Given the description of an element on the screen output the (x, y) to click on. 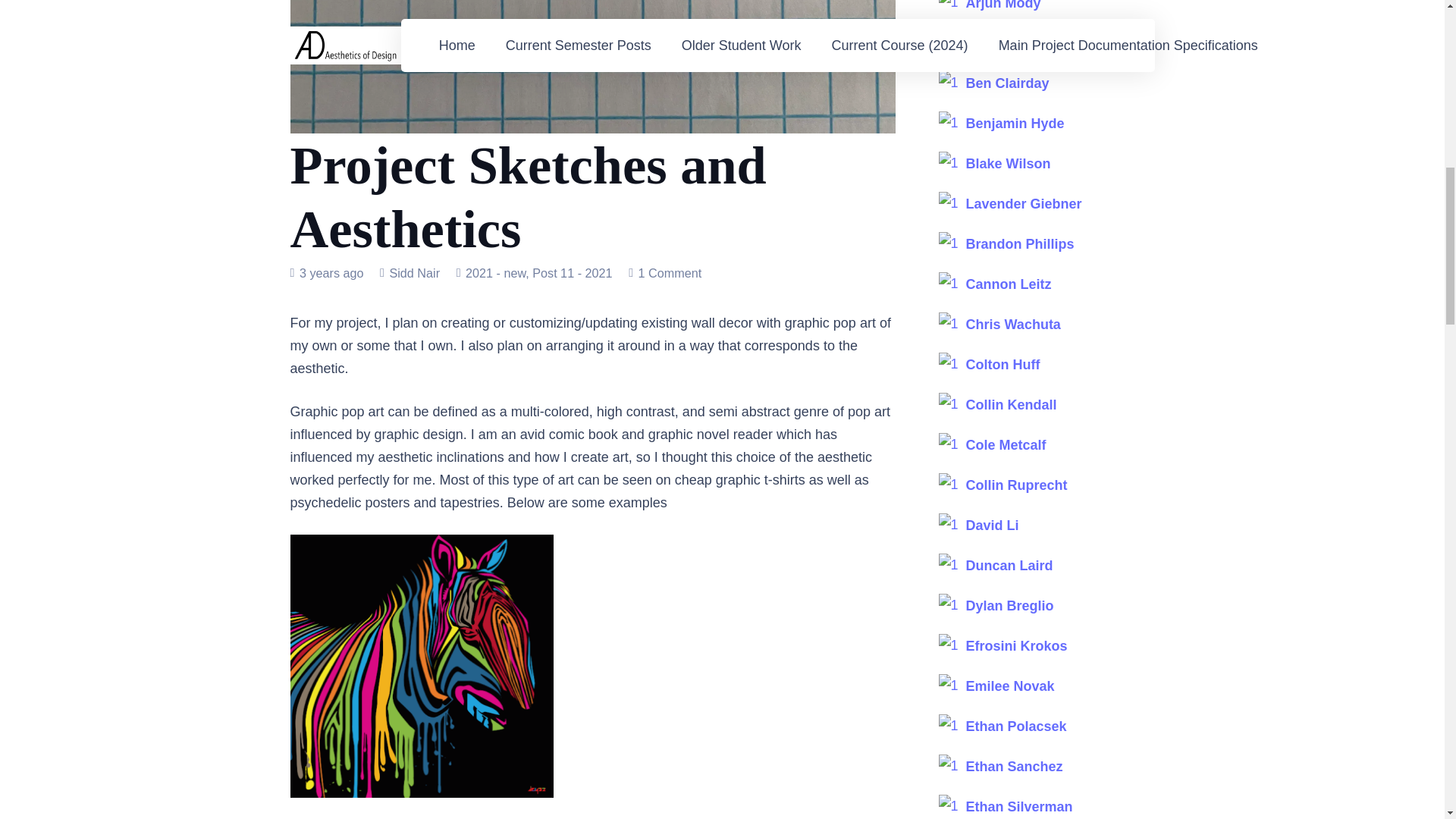
Back to top (1413, 26)
1 Comment (670, 273)
